Given the description of an element on the screen output the (x, y) to click on. 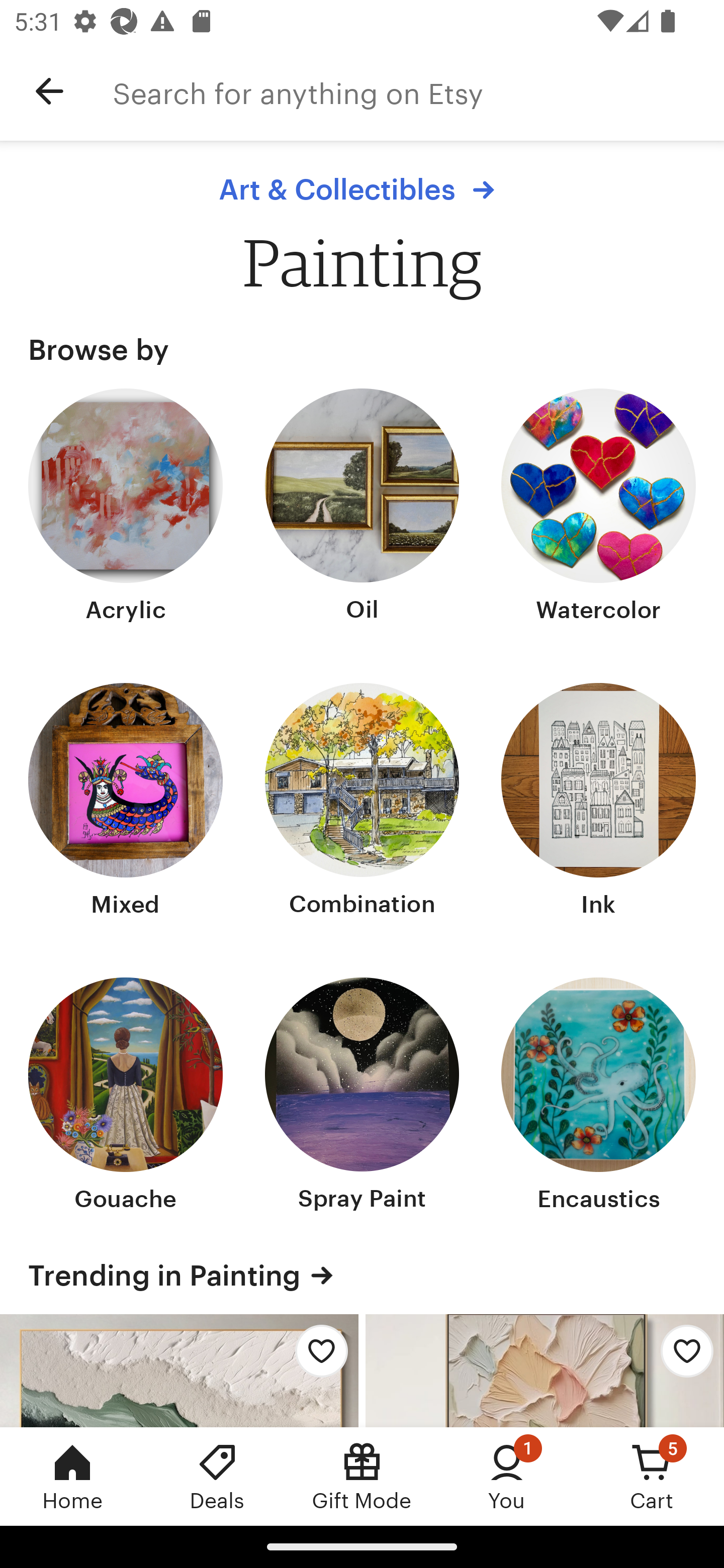
Navigate up (49, 91)
Search for anything on Etsy (418, 91)
Art & Collectibles (361, 189)
Acrylic (125, 507)
Oil (361, 507)
Watercolor (598, 507)
Mixed (125, 802)
Combination (361, 802)
Ink (598, 802)
Gouache (125, 1095)
Spray Paint (361, 1095)
Encaustics (598, 1095)
Trending in Painting  (361, 1275)
Deals (216, 1475)
Gift Mode (361, 1475)
You, 1 new notification You (506, 1475)
Cart, 5 new notifications Cart (651, 1475)
